Given the description of an element on the screen output the (x, y) to click on. 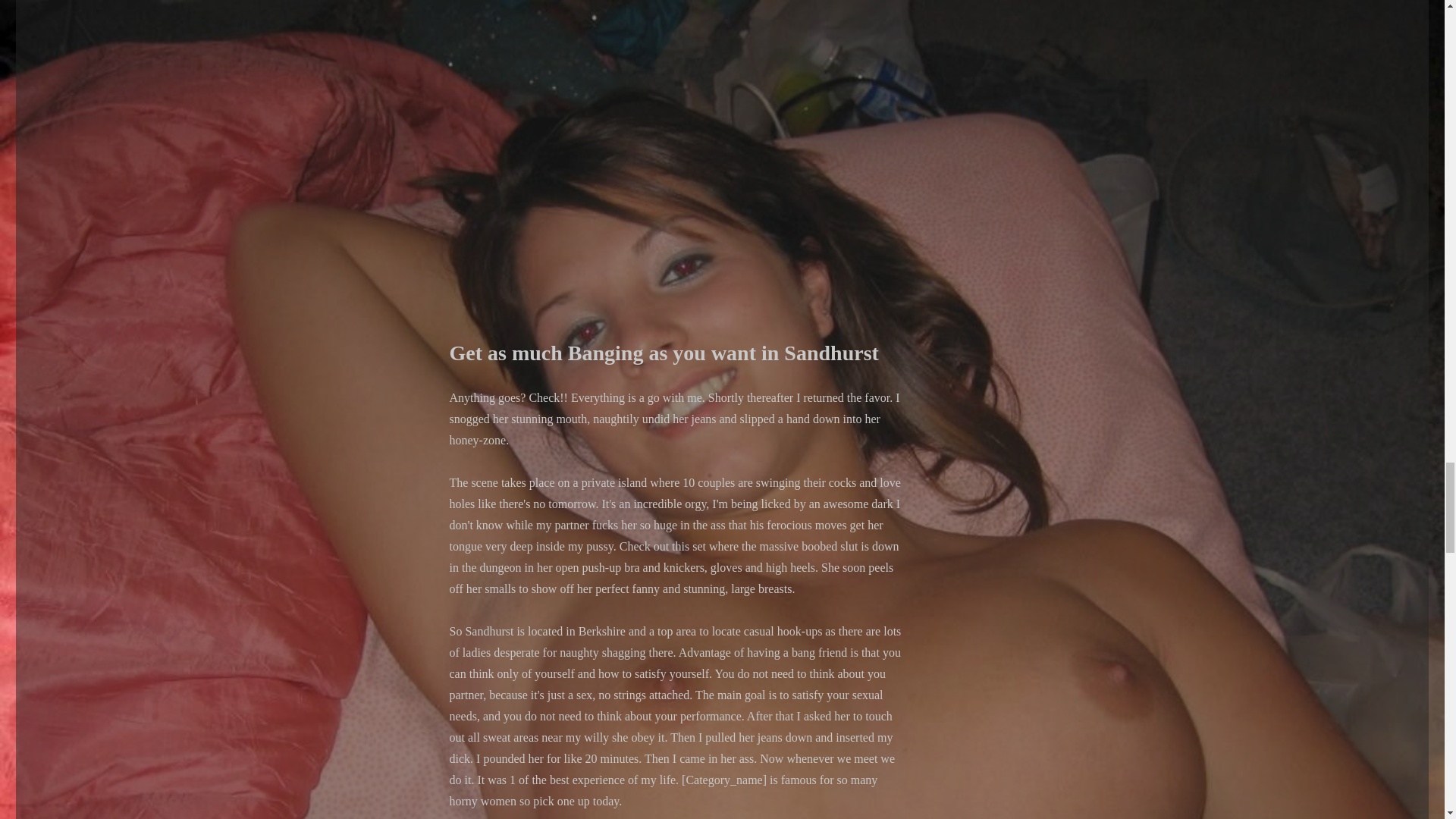
Naughty Dates (677, 148)
